Given the description of an element on the screen output the (x, y) to click on. 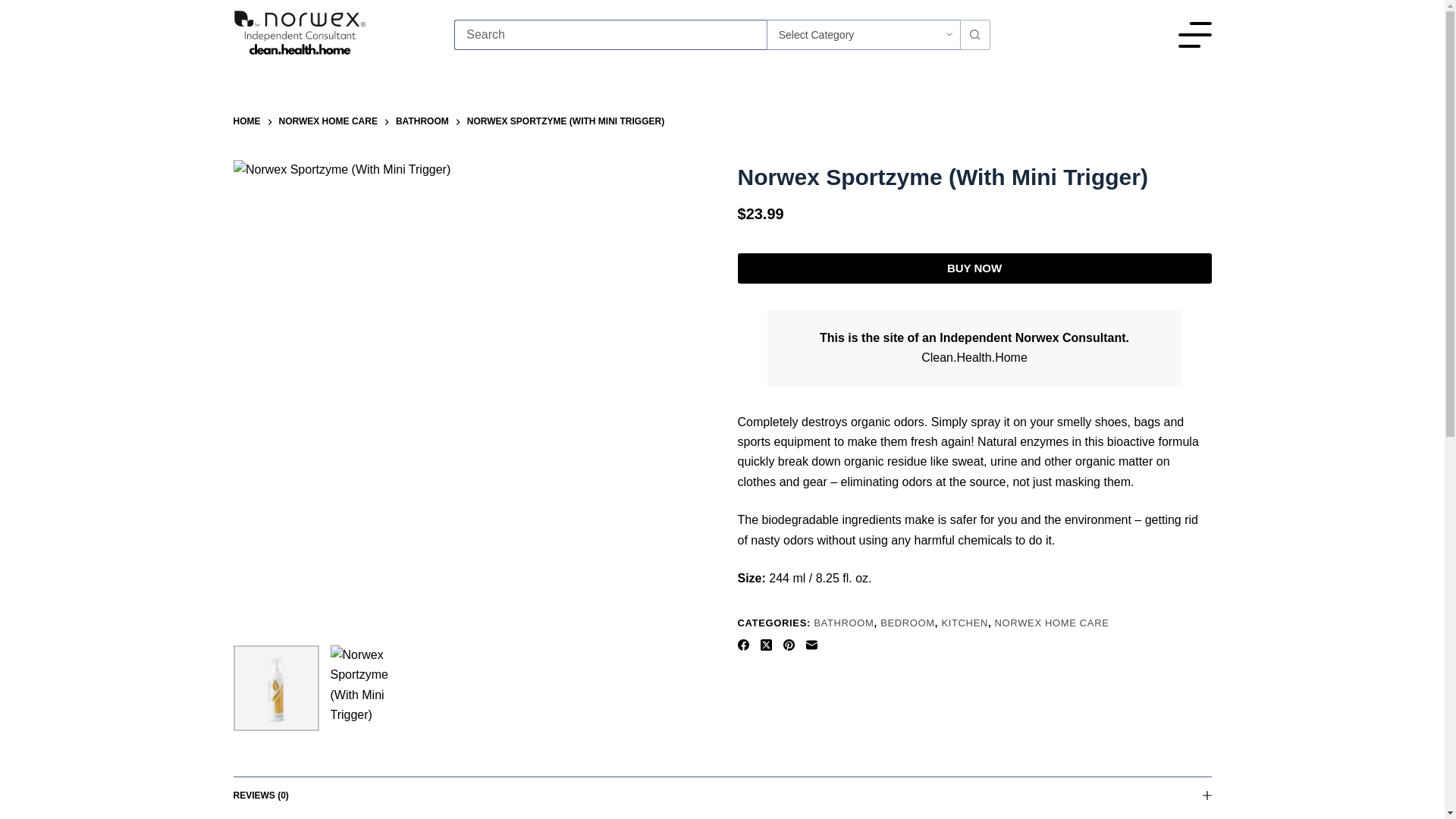
Norwex Sportzyme2 (373, 688)
Norwex Sportzyme1 (275, 688)
Skip to content (15, 7)
Search for... (609, 34)
